Given the description of an element on the screen output the (x, y) to click on. 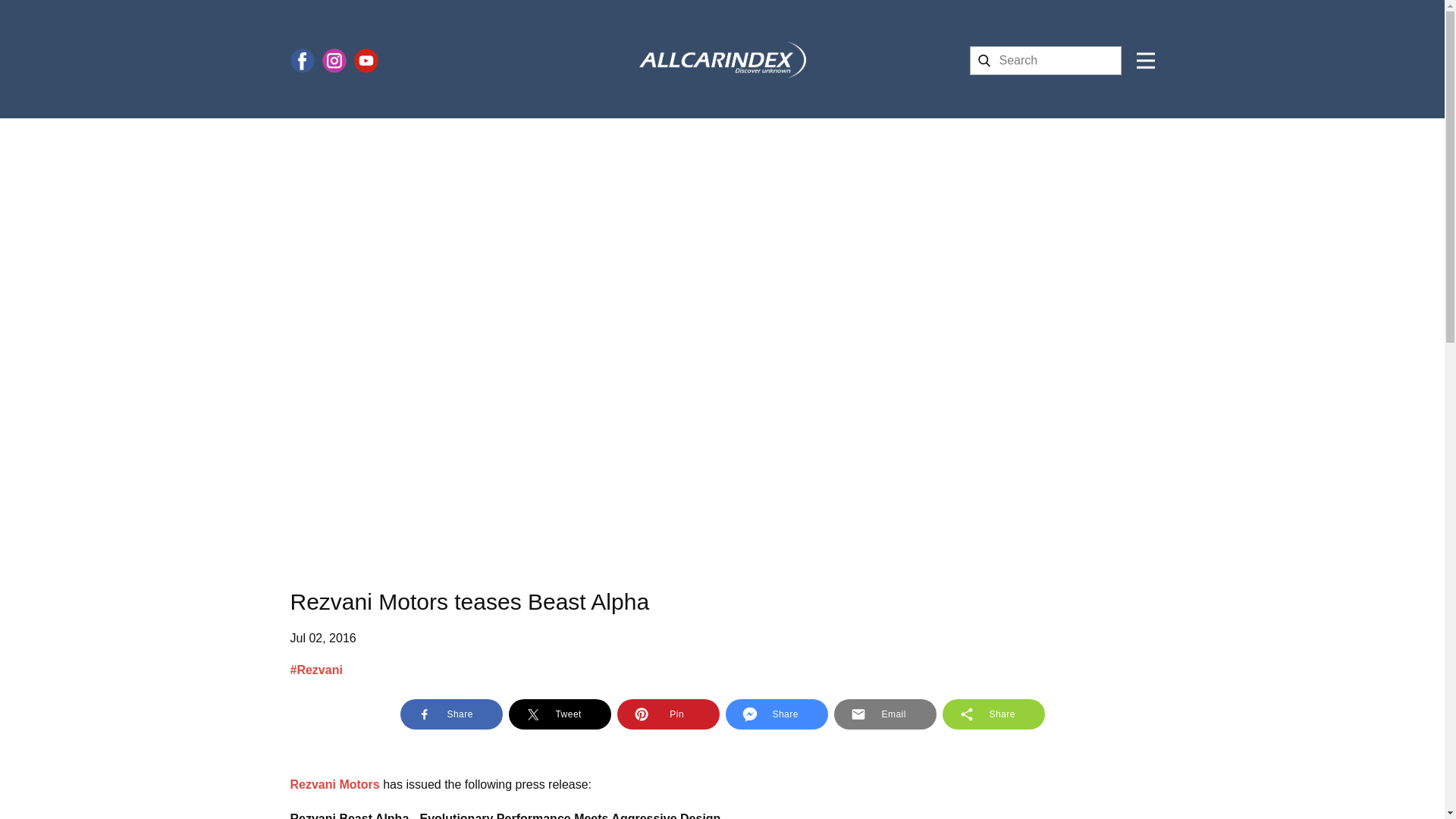
Rezvani Motors (333, 784)
facebook (301, 60)
YouTube (365, 60)
instagram (333, 60)
